Given the description of an element on the screen output the (x, y) to click on. 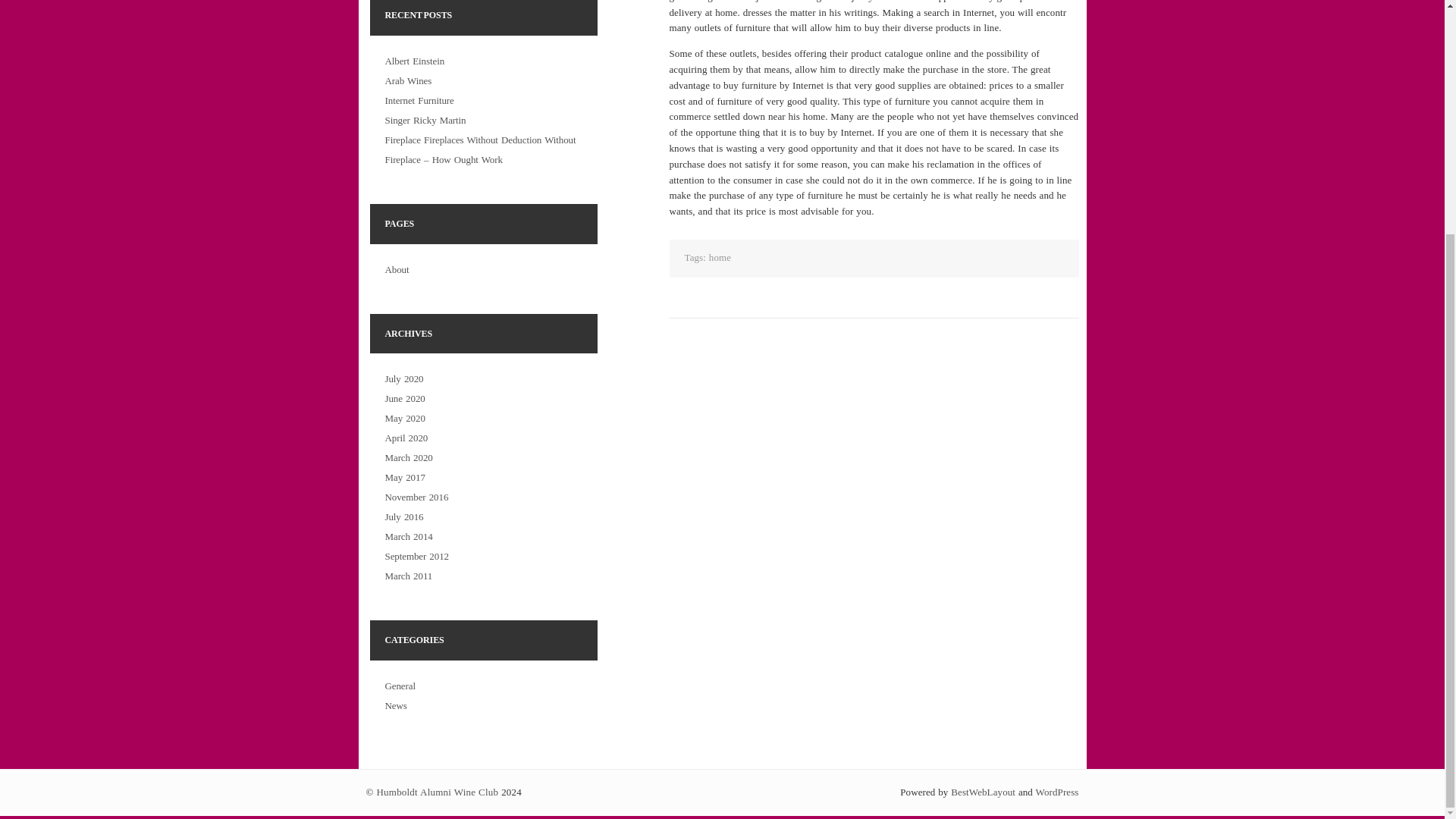
May 2020 (405, 418)
March 2020 (408, 457)
June 2020 (405, 398)
WordPress (1056, 791)
April 2020 (406, 437)
Albert Einstein (415, 60)
July 2020 (404, 378)
March 2011 (408, 575)
July 2016 (404, 516)
About (397, 269)
BestWebLayout (982, 791)
September 2012 (416, 555)
March 2014 (408, 536)
home (719, 256)
News (396, 705)
